Given the description of an element on the screen output the (x, y) to click on. 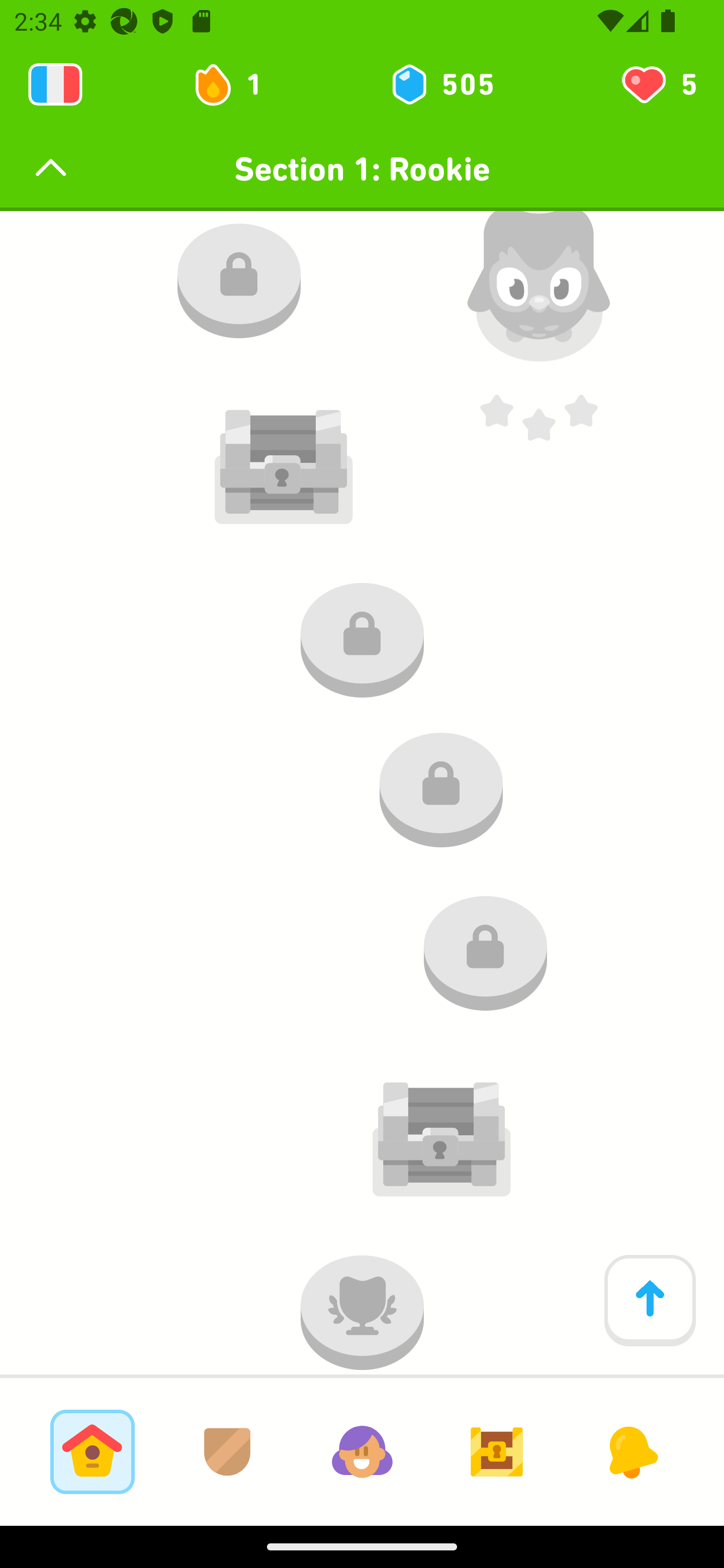
Learning 2131888976 (55, 84)
1 day streak 1 (236, 84)
505 (441, 84)
You have 5 hearts left 5 (657, 84)
Section 1: Rookie (362, 169)
Learn Tab (91, 1451)
Leagues Tab (227, 1451)
Profile Tab (361, 1451)
Goals Tab (496, 1451)
News Tab (631, 1451)
